Given the description of an element on the screen output the (x, y) to click on. 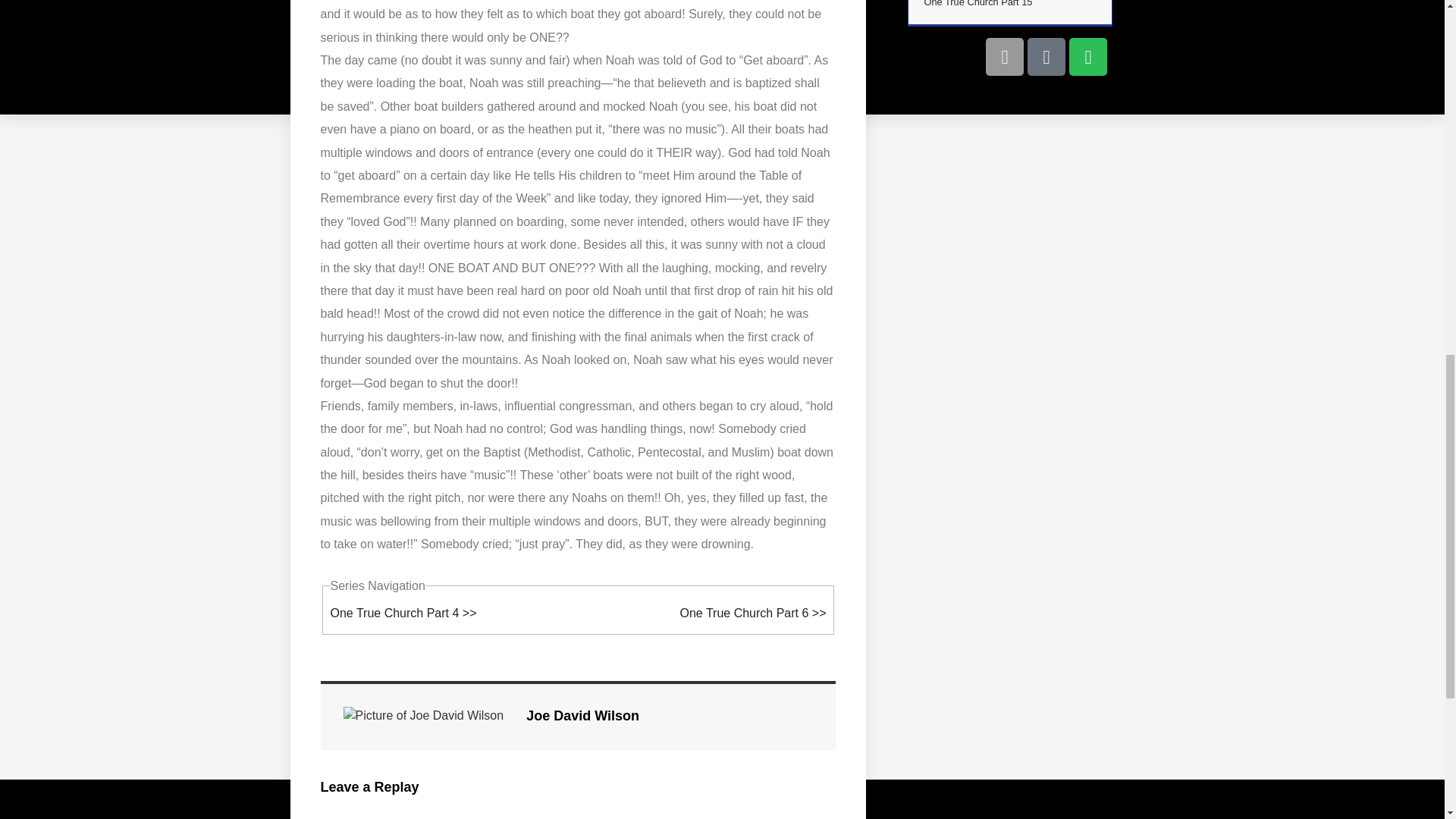
One True Church Part 15 (977, 3)
